Given the description of an element on the screen output the (x, y) to click on. 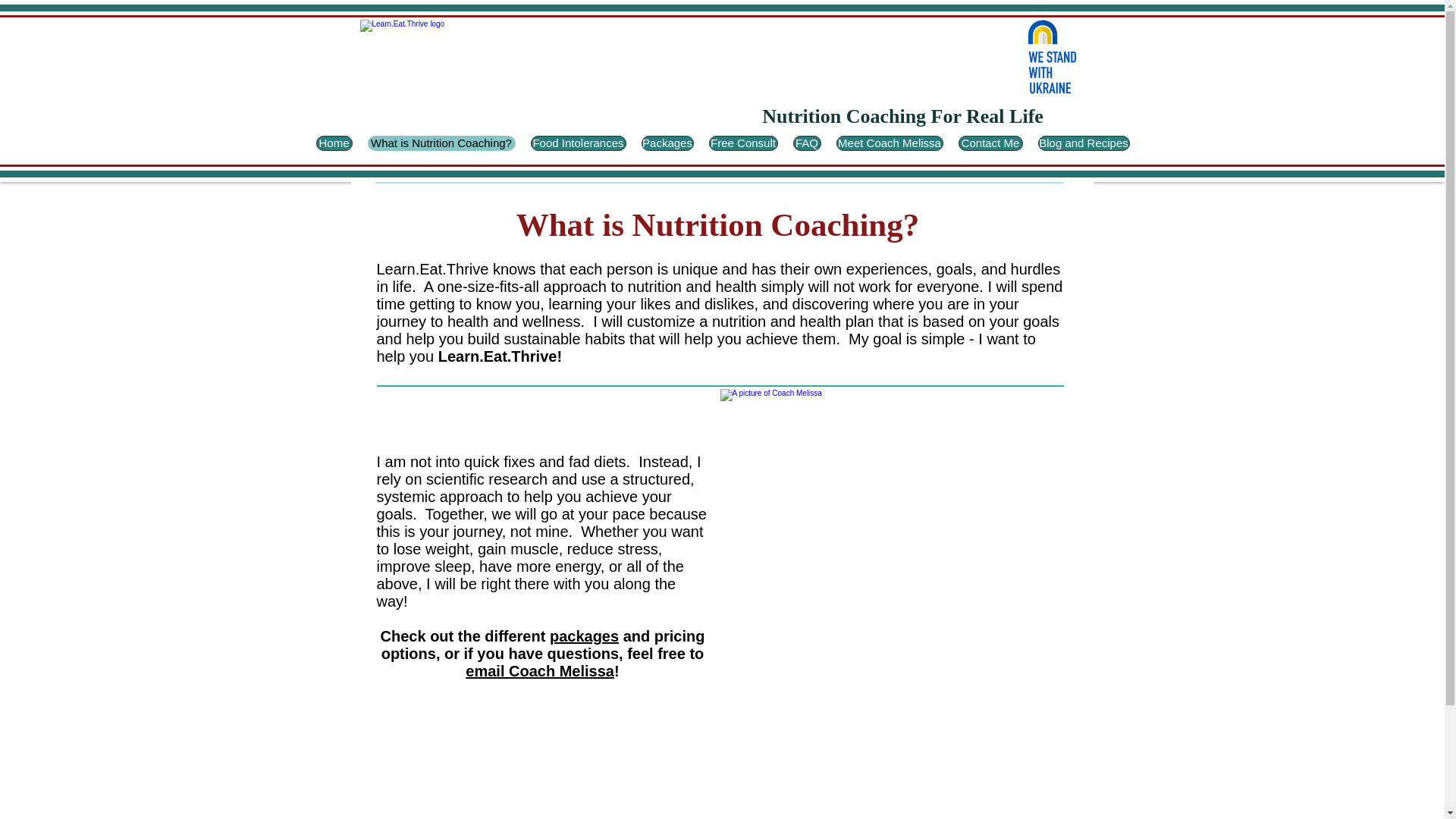
email Coach Melissa (539, 670)
Home (333, 142)
Blog and Recipes (1082, 142)
Contact Me (990, 142)
Meet Coach Melissa (888, 142)
Food Intolerances (578, 142)
Nutrition Coaching For Real Life (902, 116)
packages (584, 636)
Free Consult (742, 142)
Packages (668, 142)
What is Nutrition Coaching? (440, 142)
FAQ (807, 142)
